Given the description of an element on the screen output the (x, y) to click on. 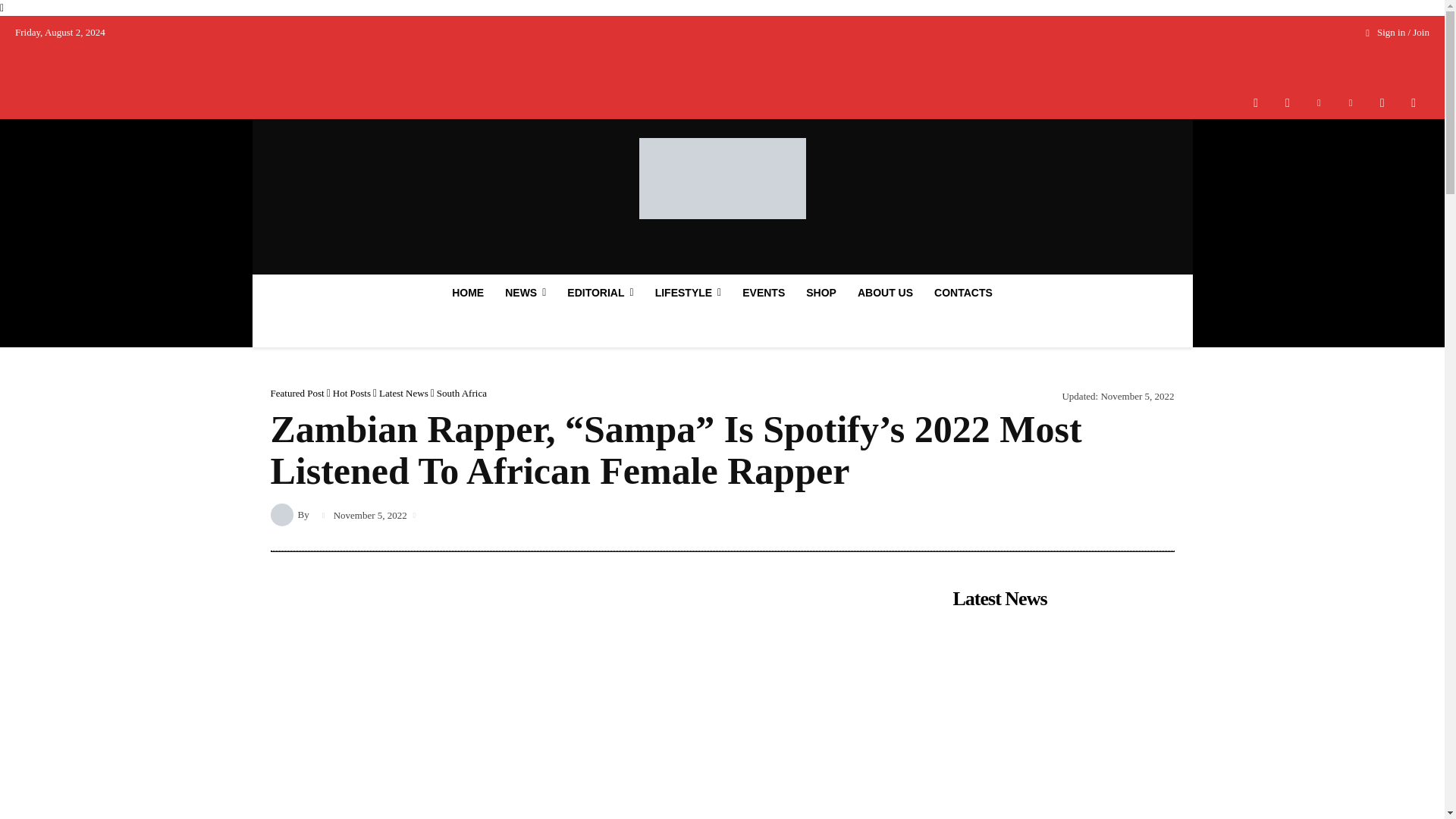
HOME (468, 292)
Pinterest (1351, 102)
Facebook (1255, 102)
EDITORIAL (599, 292)
Instagram (1287, 102)
Youtube (1413, 102)
NEWS (525, 292)
Linkedin (1319, 102)
Twitter (1382, 102)
